Given the description of an element on the screen output the (x, y) to click on. 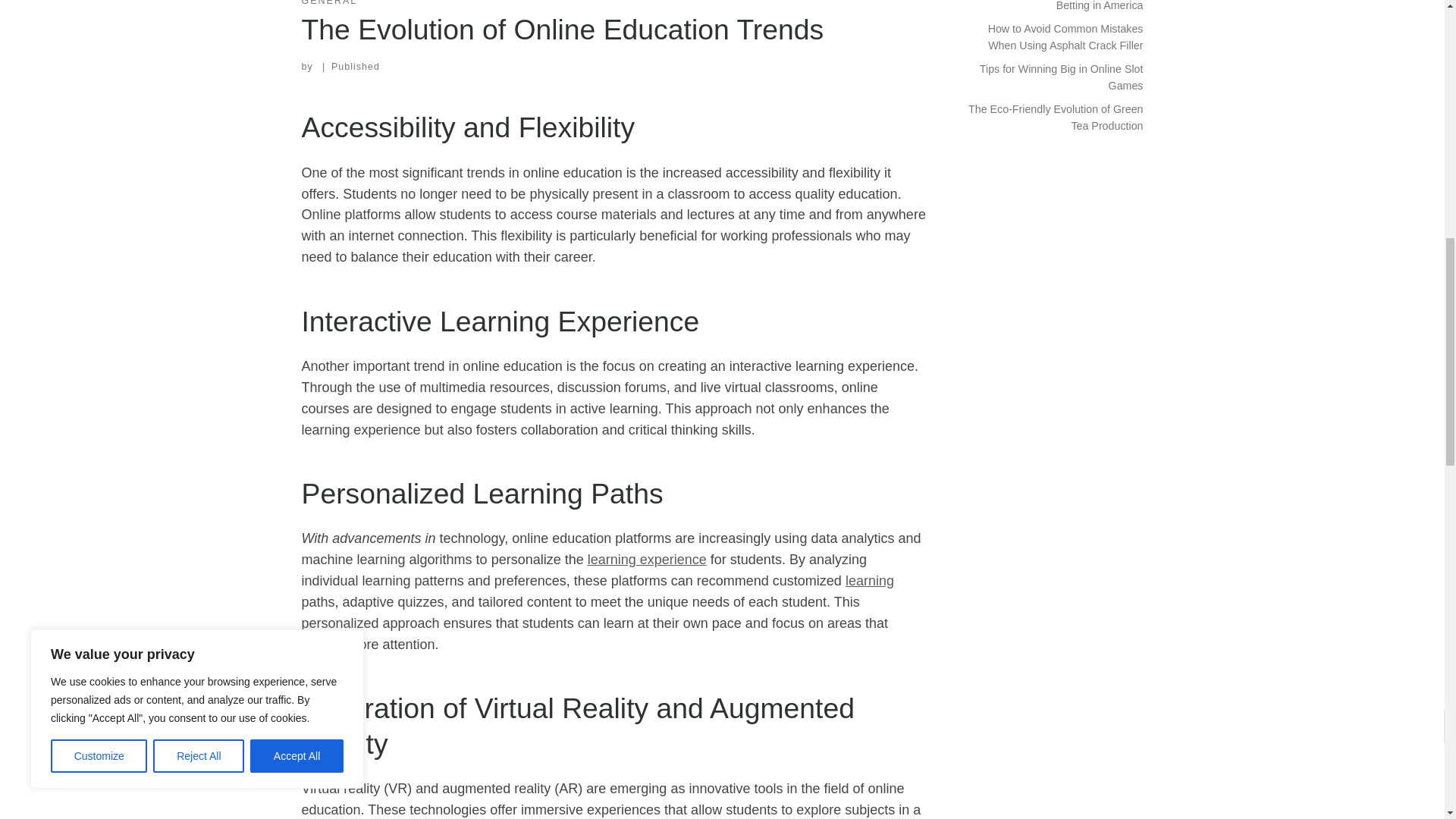
learning experience (647, 559)
View all posts in General (329, 4)
learning (869, 580)
GENERAL (329, 4)
